Given the description of an element on the screen output the (x, y) to click on. 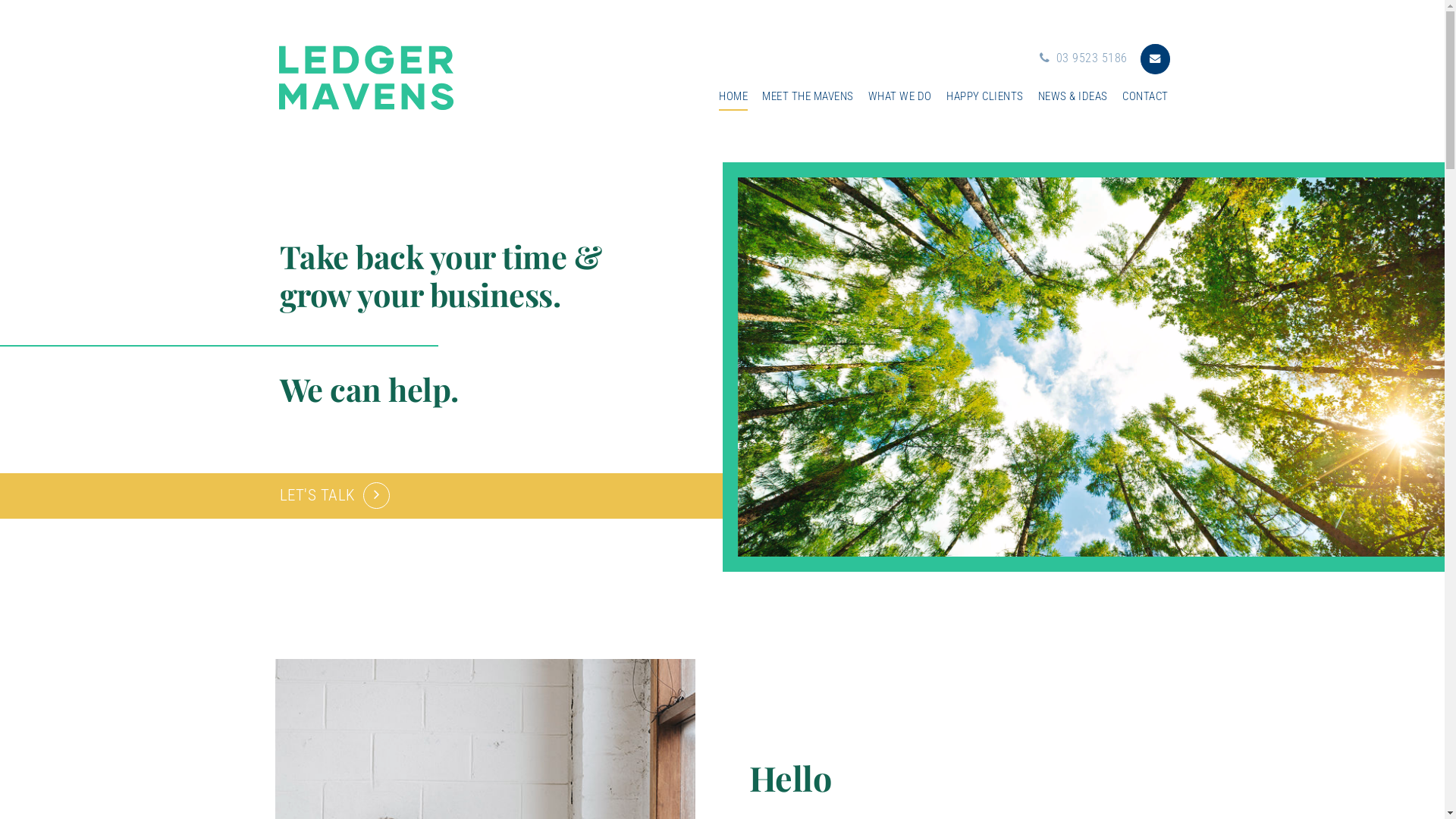
MEET THE MAVENS Element type: text (807, 97)
HOME Element type: text (732, 97)
LET'S TALK Element type: text (334, 488)
HAPPY CLIENTS Element type: text (984, 97)
WHAT WE DO Element type: text (899, 97)
NEWS & IDEAS Element type: text (1072, 97)
CONTACT Element type: text (1145, 97)
